Given the description of an element on the screen output the (x, y) to click on. 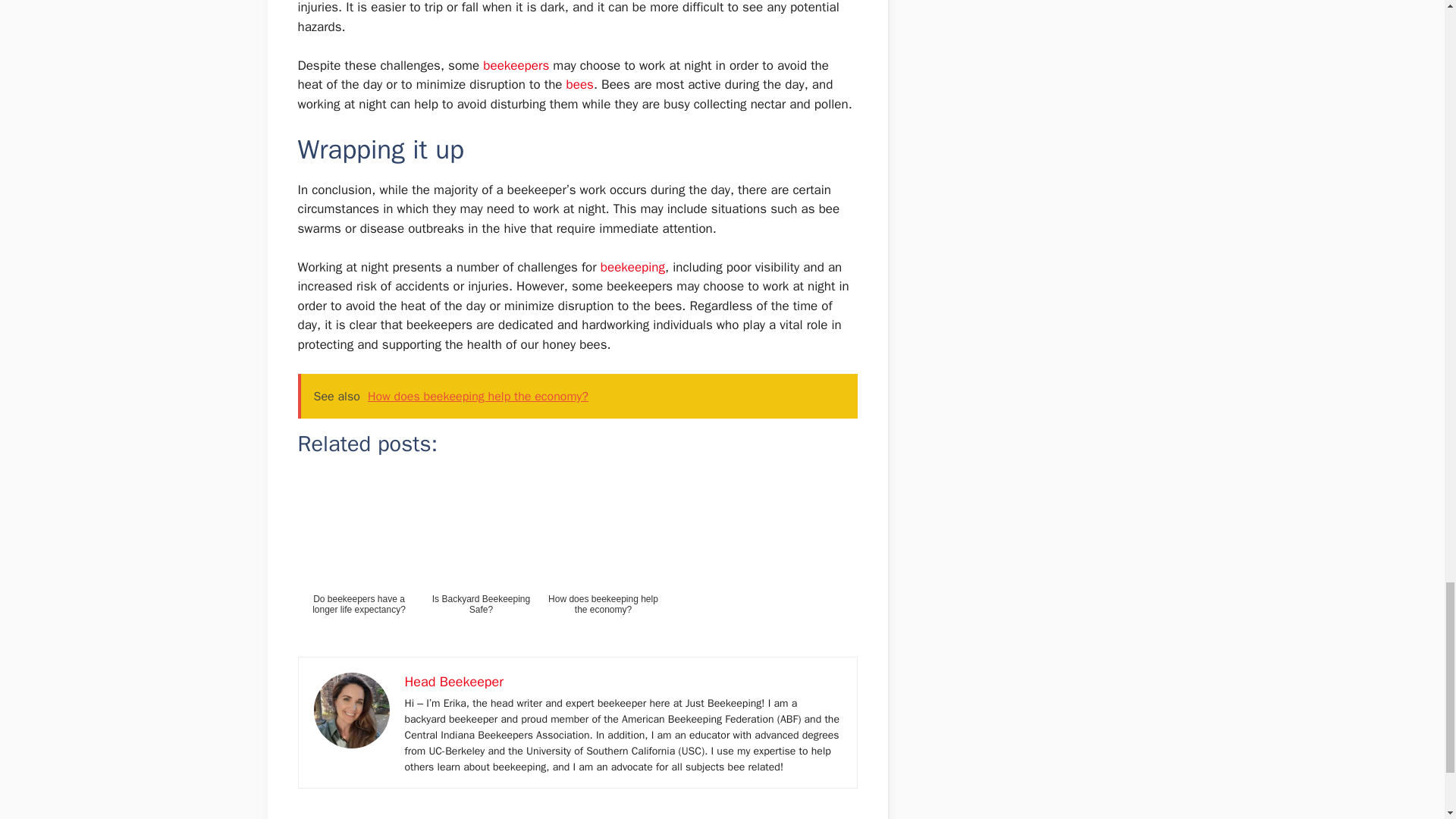
How does beekeeping help the economy? (602, 562)
Beekeeping Questions (369, 818)
Do beekeepers have a longer life expectancy? (358, 562)
Is Backyard Beekeeping Safe? (481, 562)
bees (577, 84)
beekeepers (513, 65)
See also  How does beekeeping help the economy? (577, 396)
beekeeping (632, 267)
Head Beekeeper (453, 681)
